Given the description of an element on the screen output the (x, y) to click on. 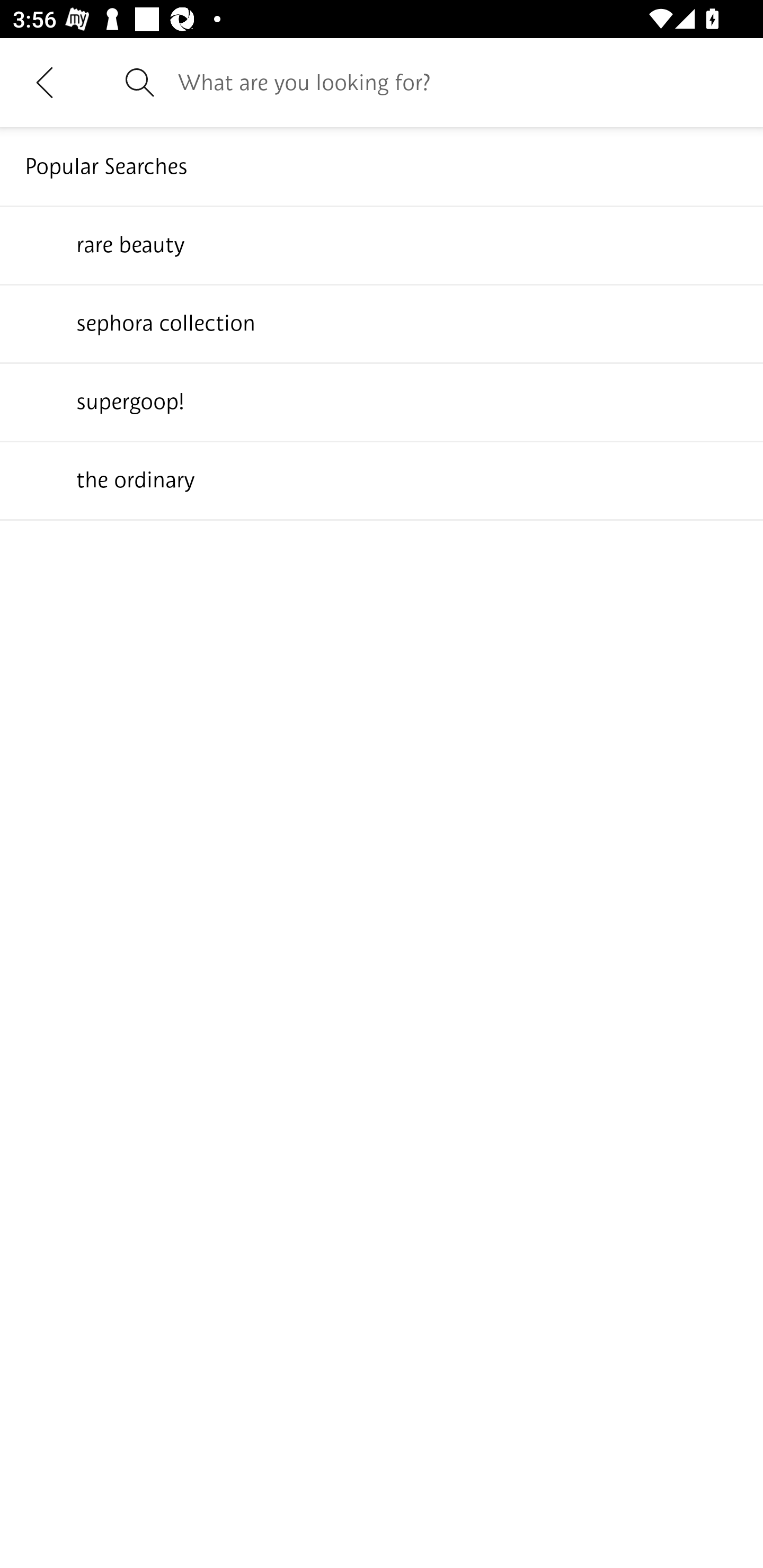
Navigate up (44, 82)
What are you looking for? (457, 82)
rare beauty (381, 244)
sephora collection (381, 322)
supergoop! (381, 401)
the ordinary (381, 479)
